Given the description of an element on the screen output the (x, y) to click on. 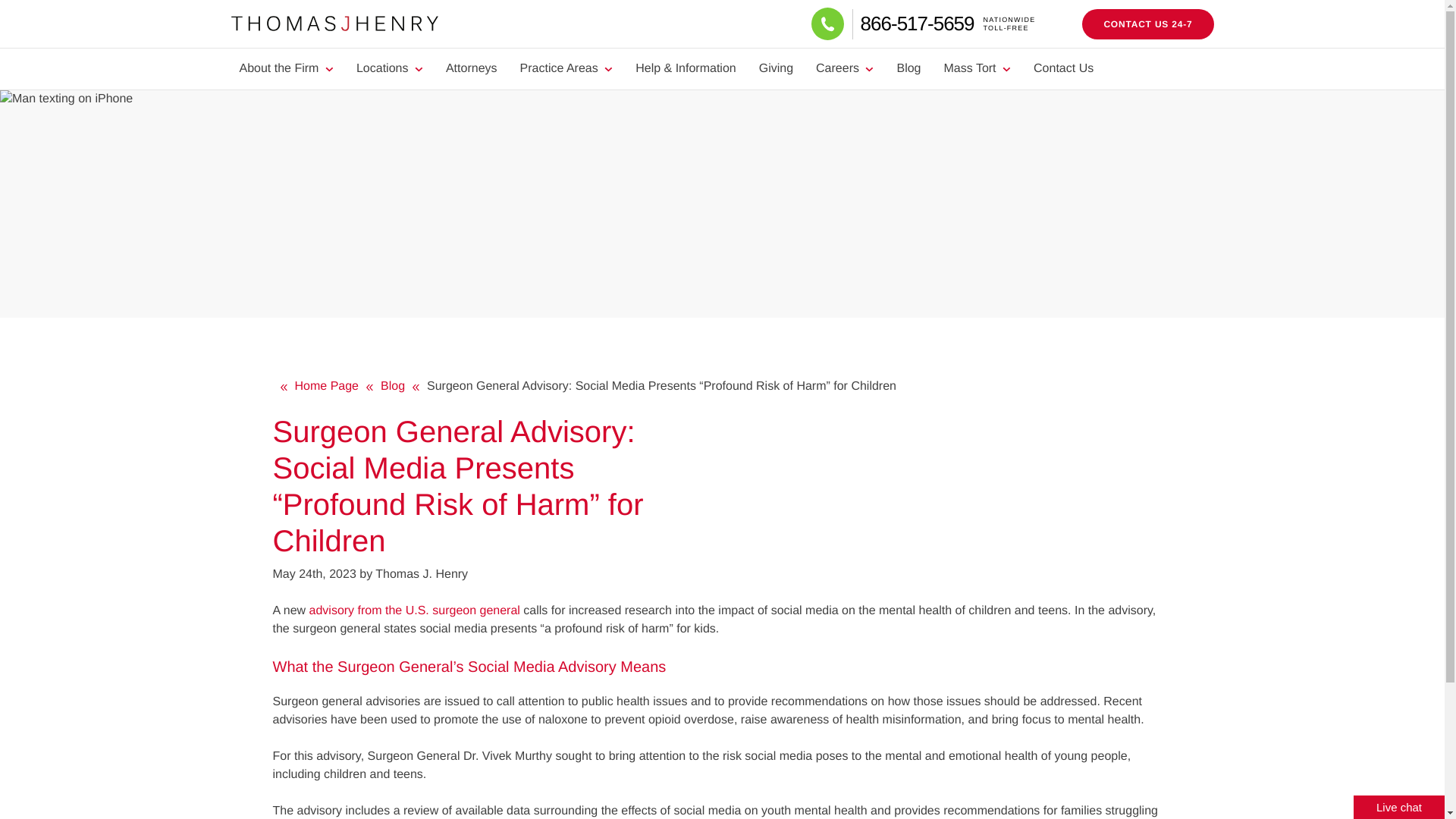
Practice Areas (566, 68)
Attorneys (470, 68)
CONTACT US 24-7 (946, 23)
CONTACT US 24-7 (1146, 24)
Giving (1146, 24)
About the Firm (776, 68)
Careers (285, 68)
Locations (845, 68)
